Given the description of an element on the screen output the (x, y) to click on. 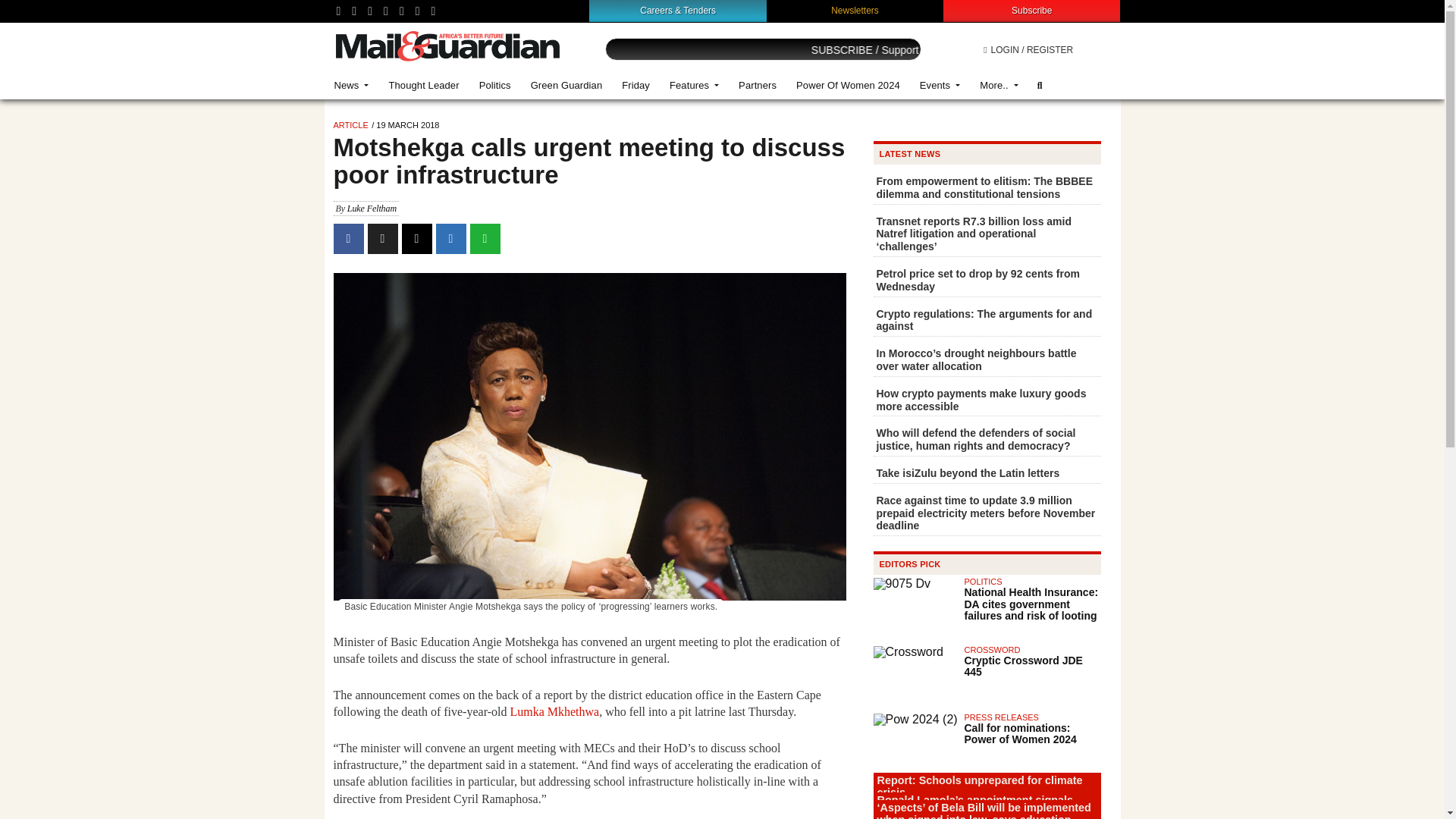
News (351, 85)
News (351, 85)
Newsletters (855, 9)
Subscribe (1031, 9)
Thought Leader (423, 85)
Green Guardian (566, 85)
Politics (494, 85)
Friday (635, 85)
Features (694, 85)
